Given the description of an element on the screen output the (x, y) to click on. 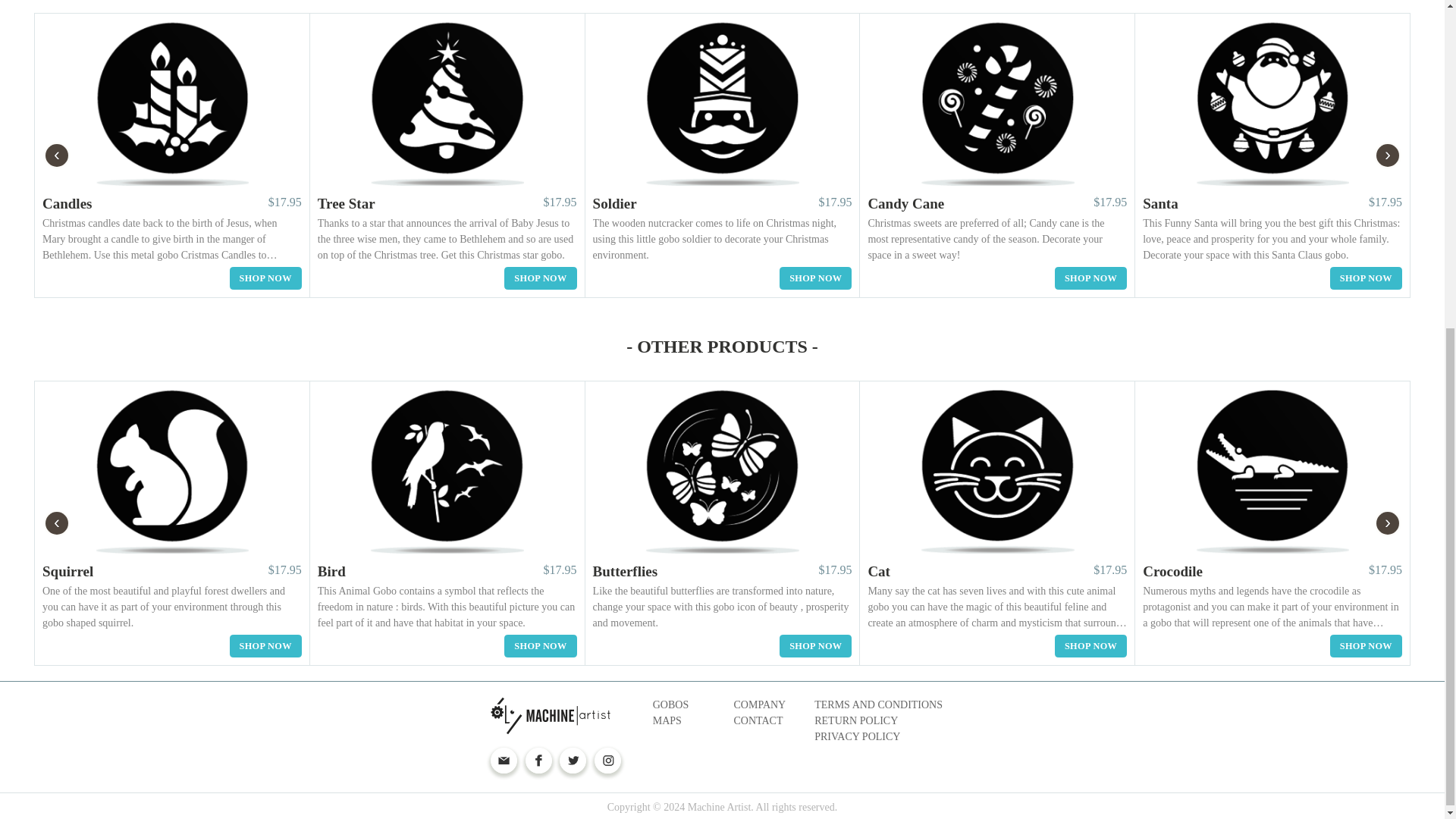
SHOP NOW (814, 277)
Candles (66, 203)
Candy Cane (905, 203)
SHOP NOW (539, 277)
Candy Cane (905, 203)
Santa (1159, 203)
Santa (1159, 203)
SHOP NOW (1366, 277)
Candles (66, 203)
SHOP NOW (1090, 277)
Soldier (614, 203)
Soldier (614, 203)
Tree Star (346, 203)
Tree Star (346, 203)
SHOP NOW (265, 277)
